Given the description of an element on the screen output the (x, y) to click on. 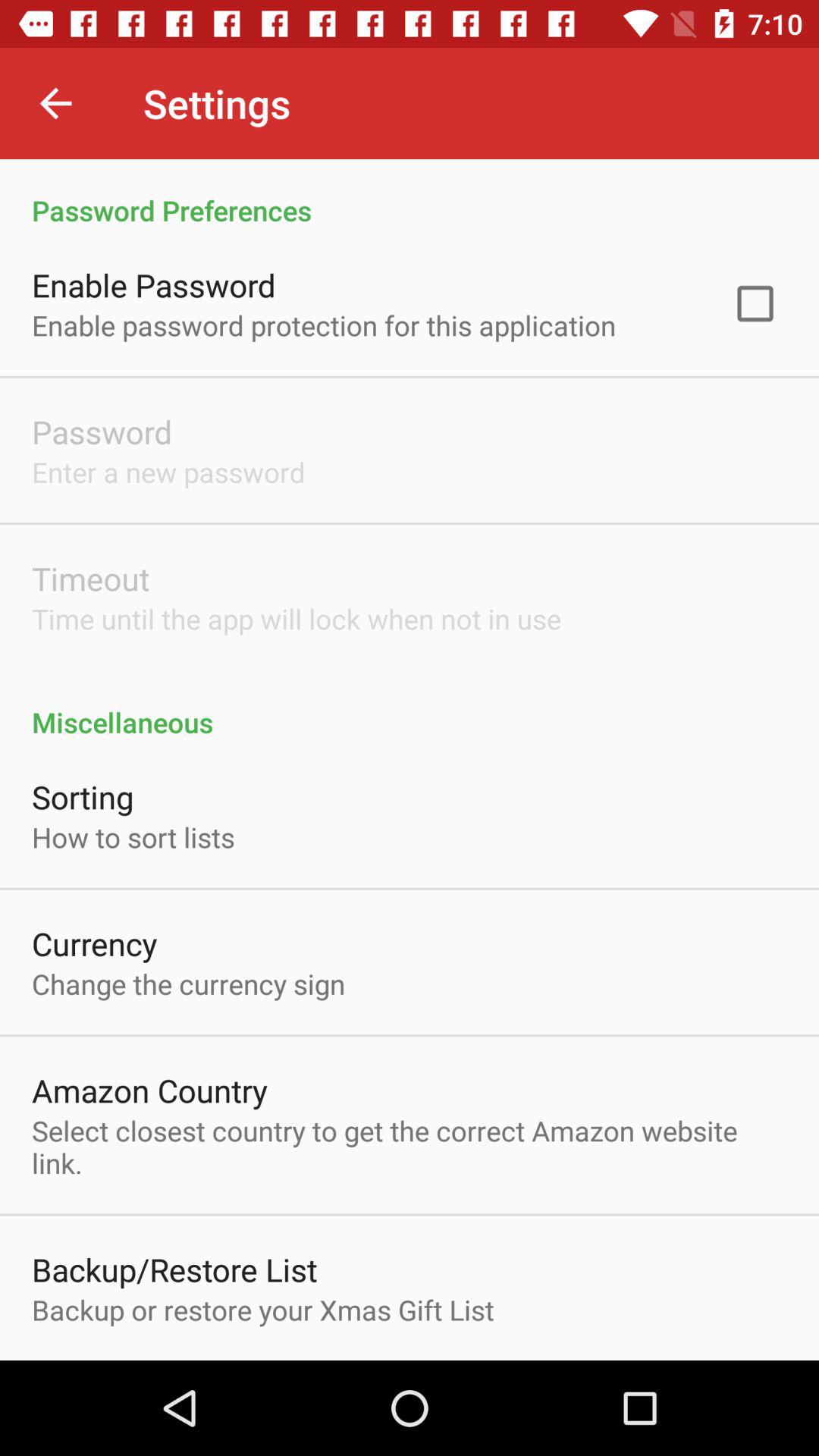
tap icon above the currency (132, 836)
